Given the description of an element on the screen output the (x, y) to click on. 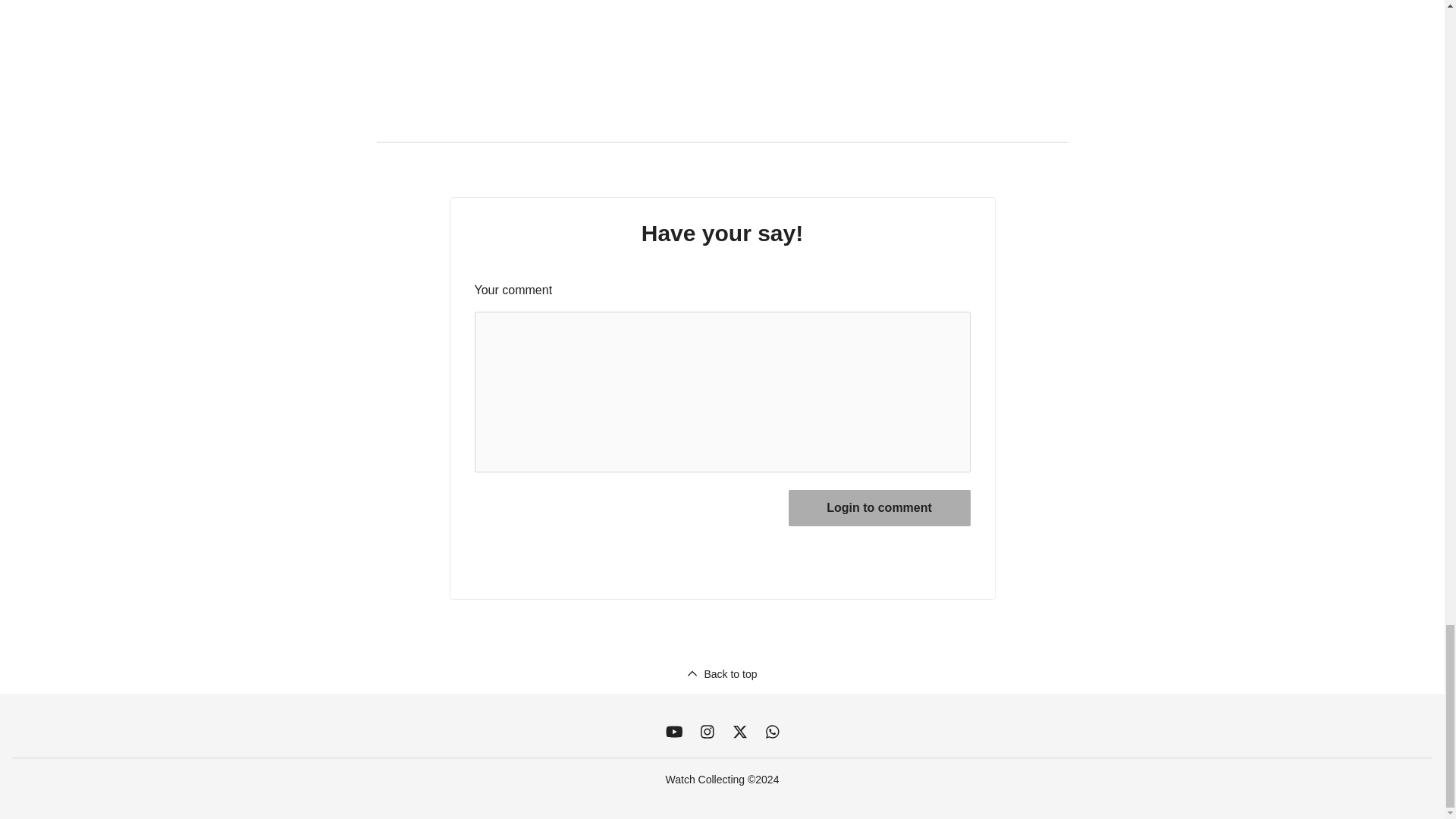
Login to comment (880, 507)
Back to top (721, 673)
